Given the description of an element on the screen output the (x, y) to click on. 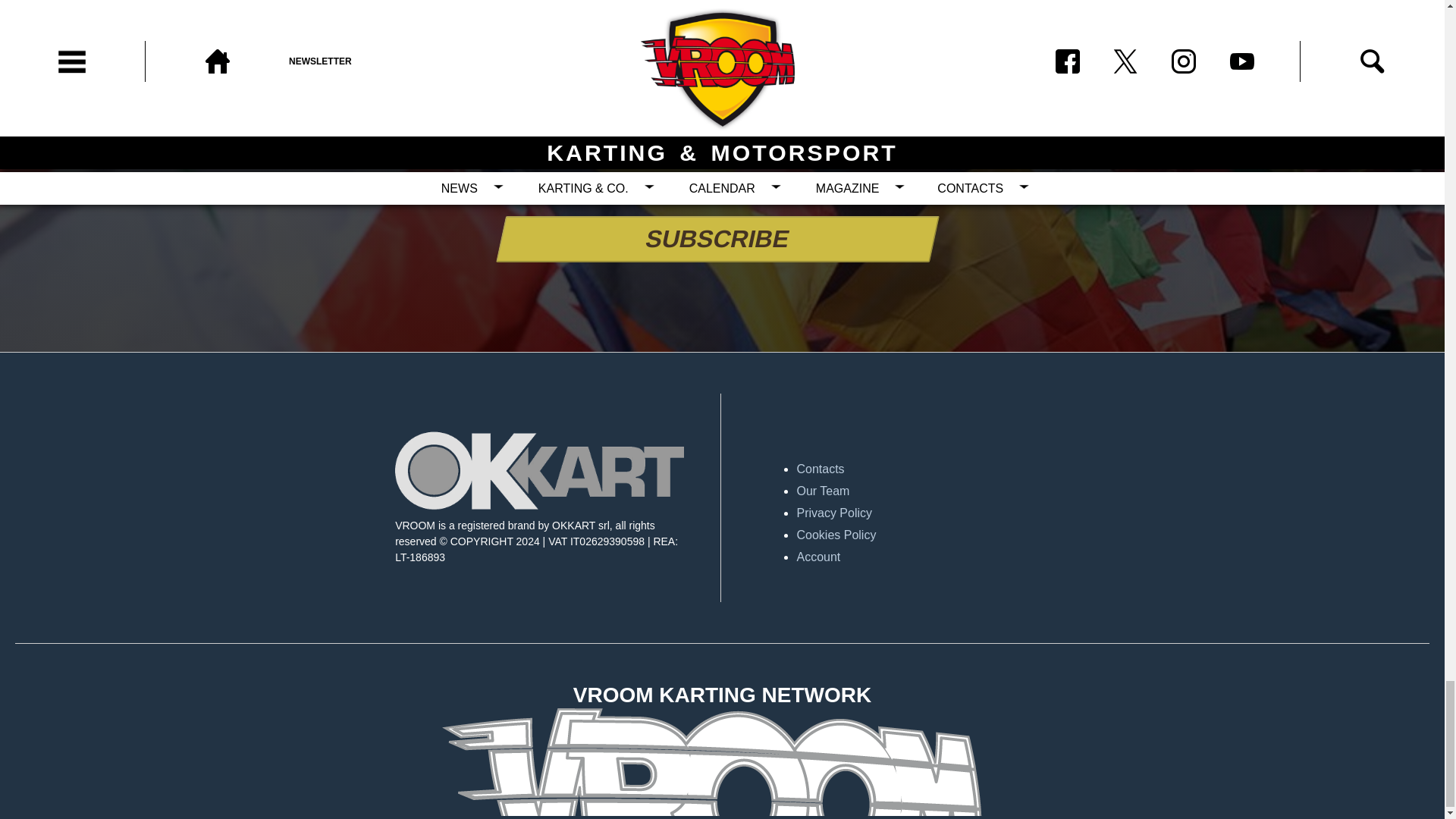
Contacts (940, 469)
2 (622, 186)
Subscribe (713, 239)
Our Team (940, 491)
